Given the description of an element on the screen output the (x, y) to click on. 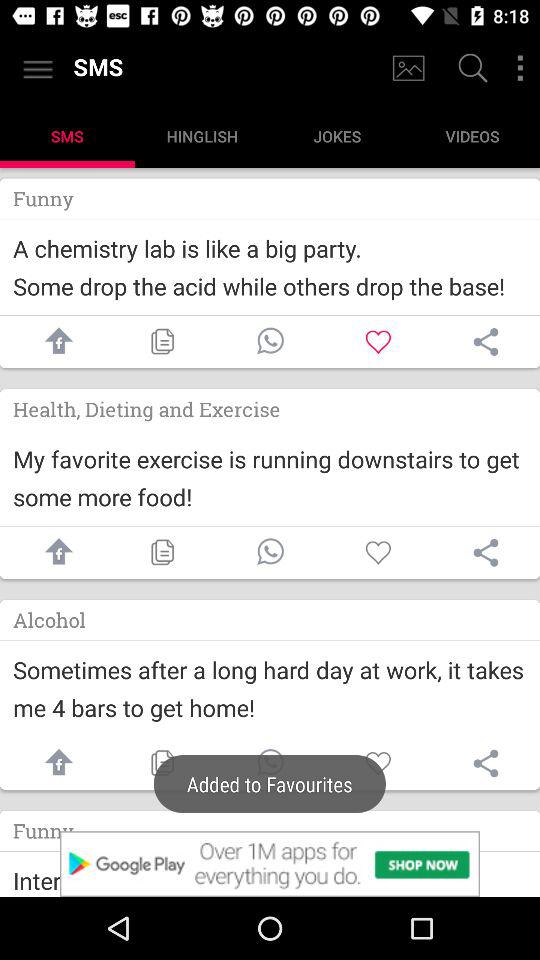
search button (470, 70)
